Given the description of an element on the screen output the (x, y) to click on. 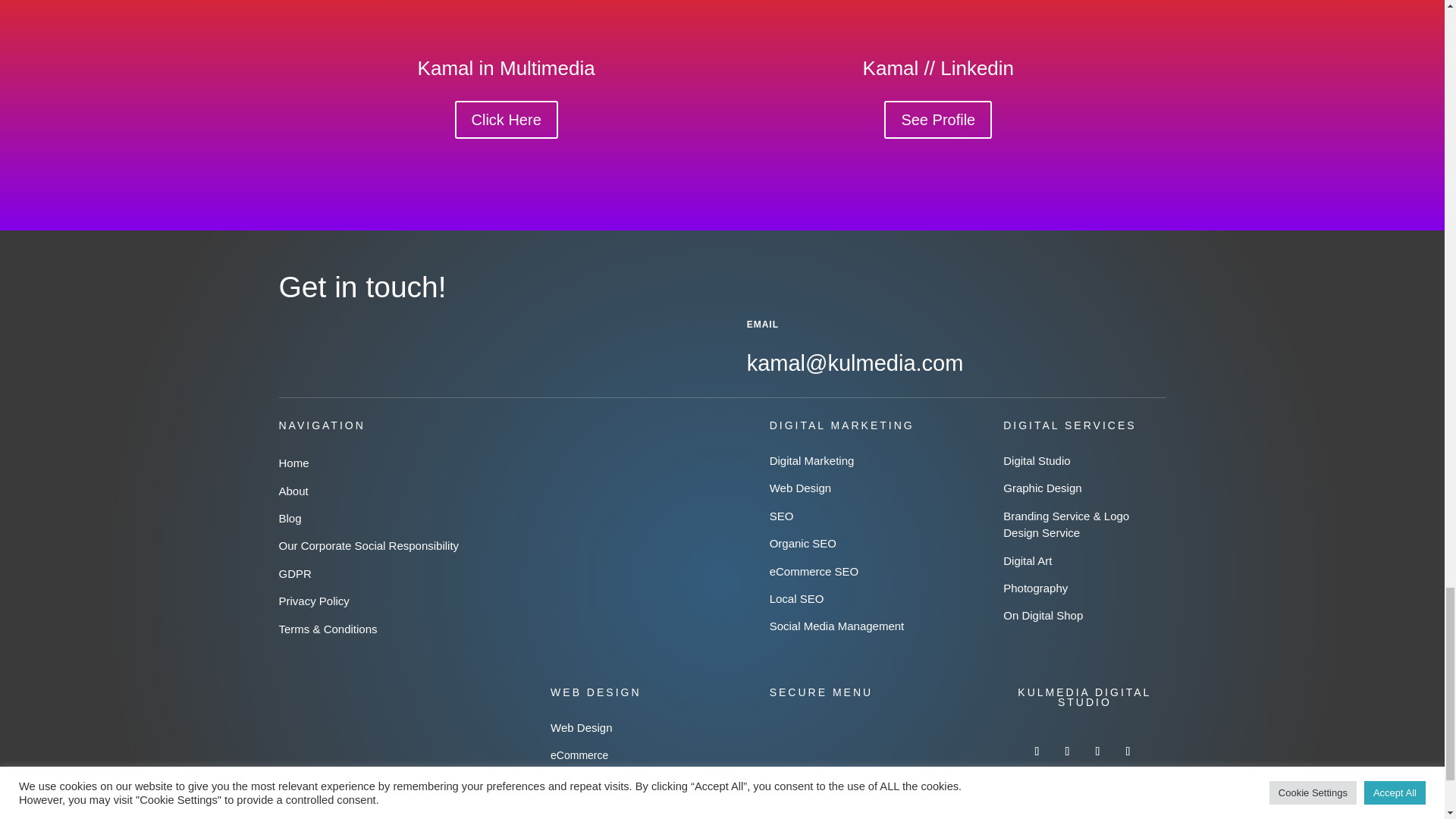
Follow on Facebook (1066, 751)
Follow on Instagram (1096, 751)
Follow on X (1127, 751)
Follow on LinkedIn (1036, 751)
